Given the description of an element on the screen output the (x, y) to click on. 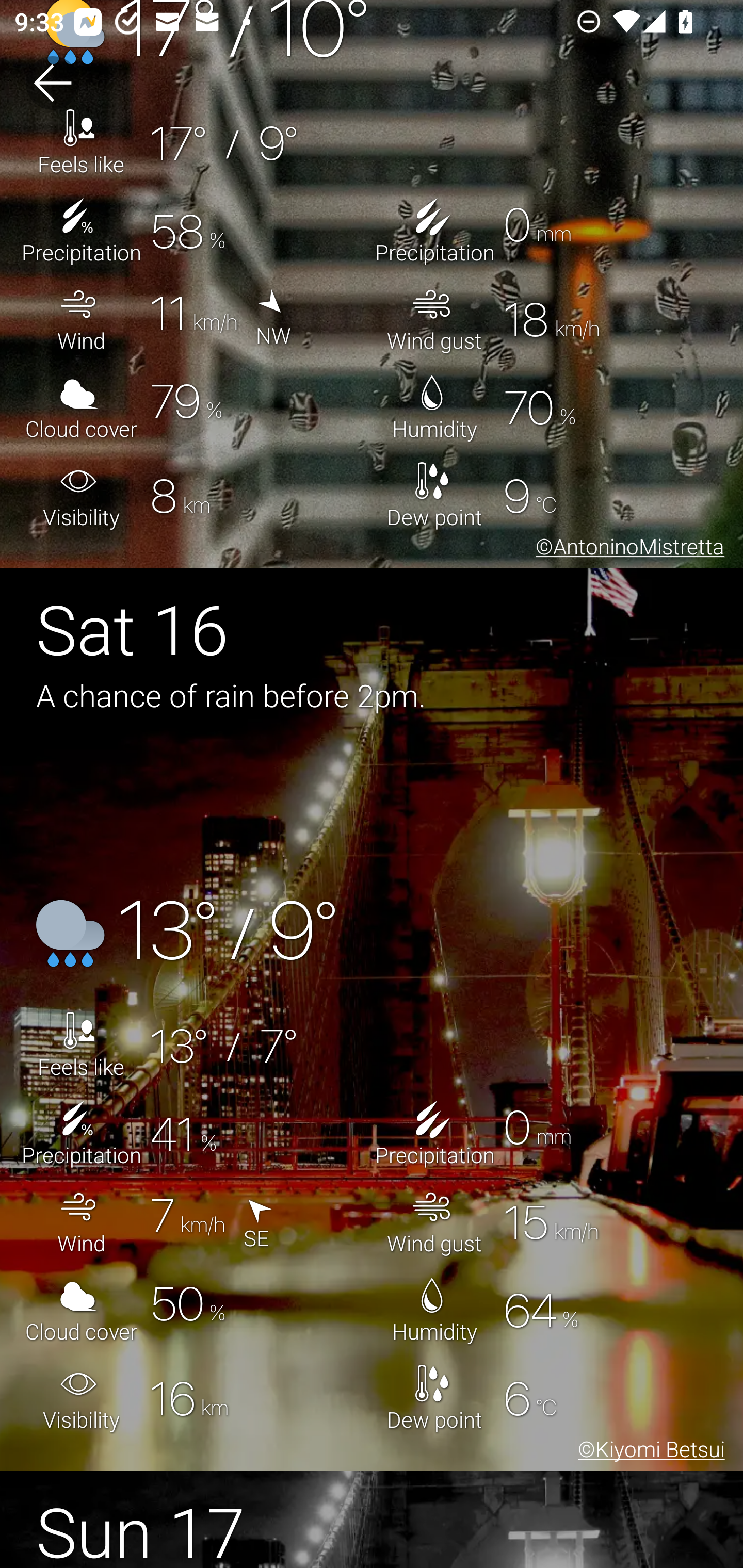
©AntoninoMistretta (626, 549)
©Kiyomi Betsui (647, 1451)
